Given the description of an element on the screen output the (x, y) to click on. 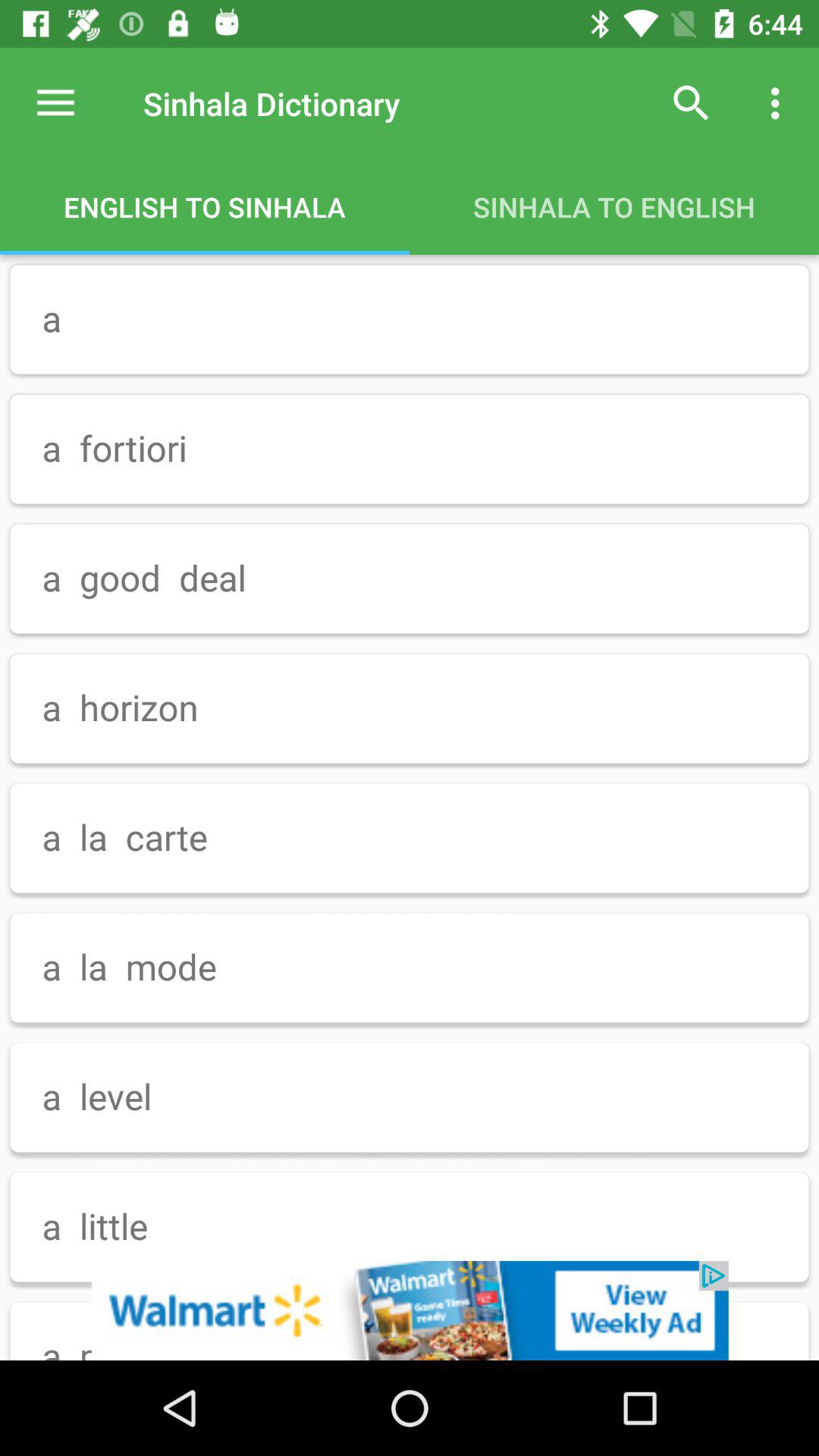
go to horizon (409, 707)
click on a good deal (409, 578)
select the option a level (409, 1098)
select the option a fortiori (409, 448)
click on the menu bar right to the search button (779, 103)
